Given the description of an element on the screen output the (x, y) to click on. 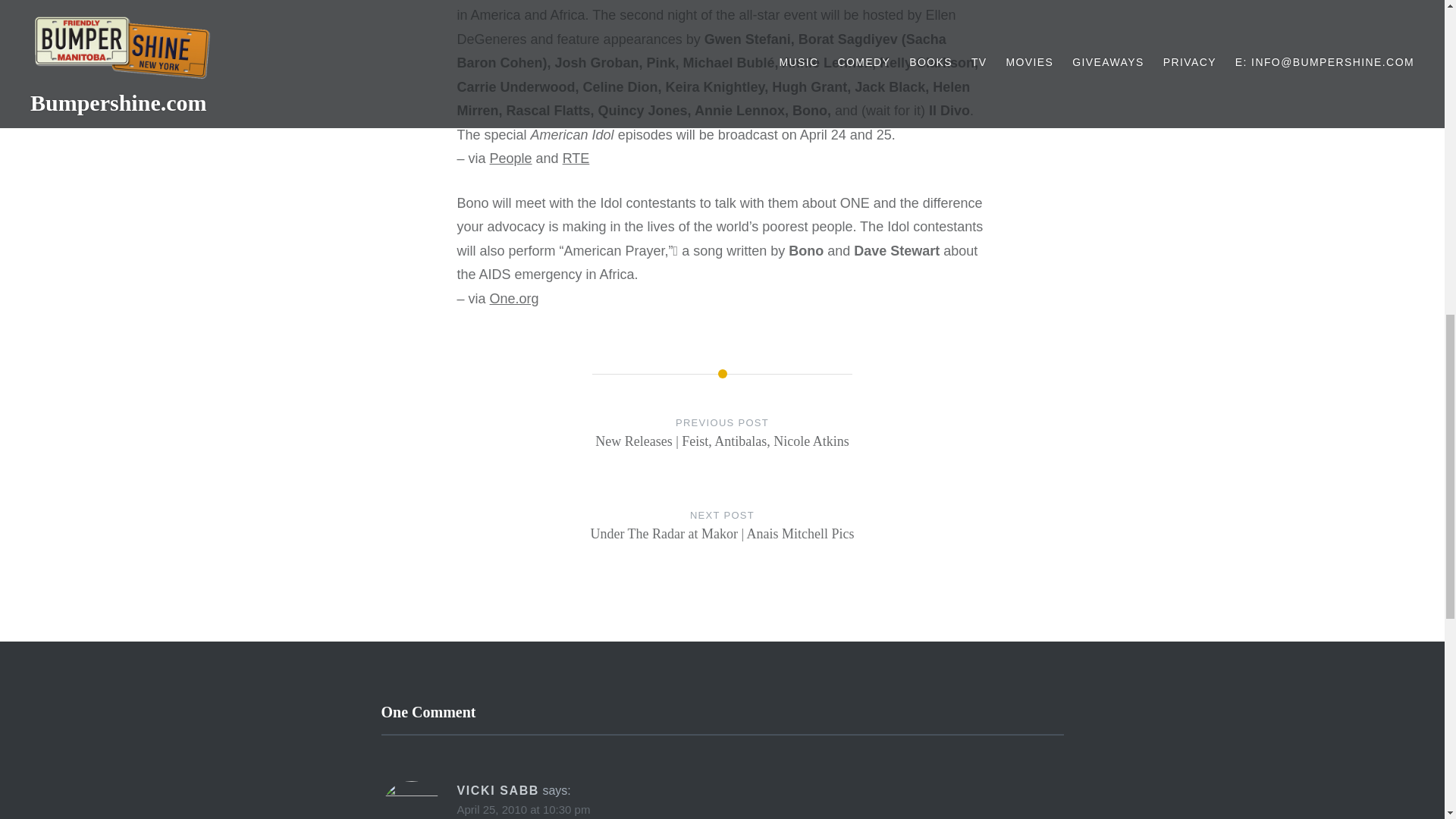
People (510, 158)
VICKI SABB (497, 789)
One.org (513, 298)
April 25, 2010 at 10:30 pm (523, 809)
RTE (575, 158)
